Given the description of an element on the screen output the (x, y) to click on. 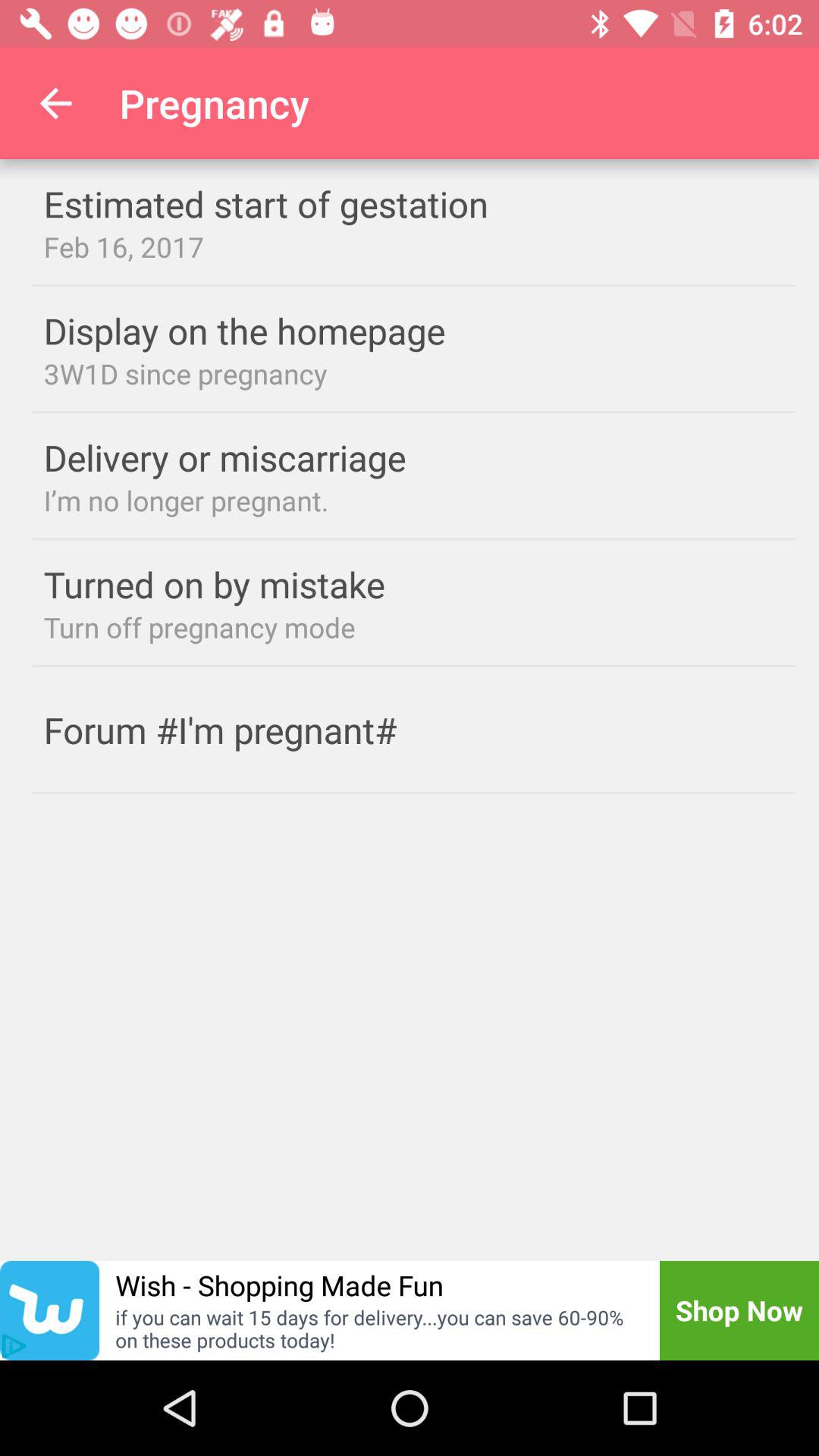
launch app to the left of the pregnancy app (55, 103)
